Given the description of an element on the screen output the (x, y) to click on. 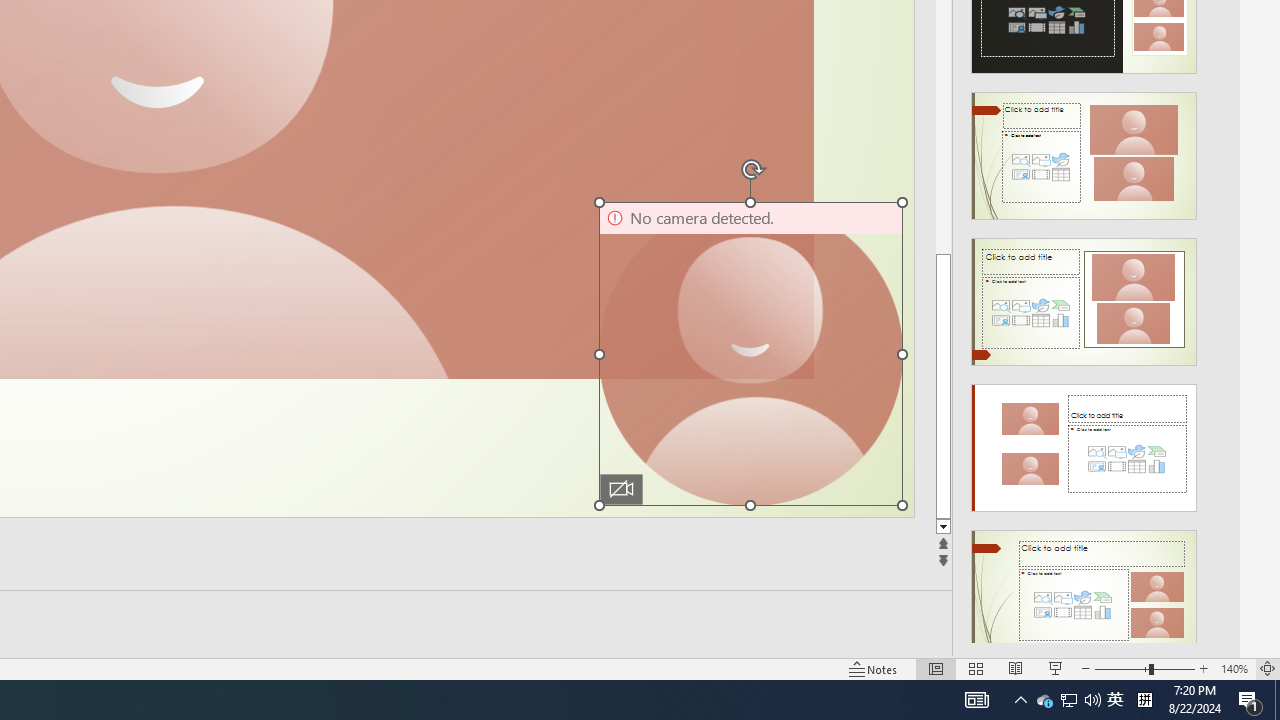
Zoom 140% (1234, 668)
Design Idea (1083, 587)
Camera 4, No camera detected. (750, 353)
